Given the description of an element on the screen output the (x, y) to click on. 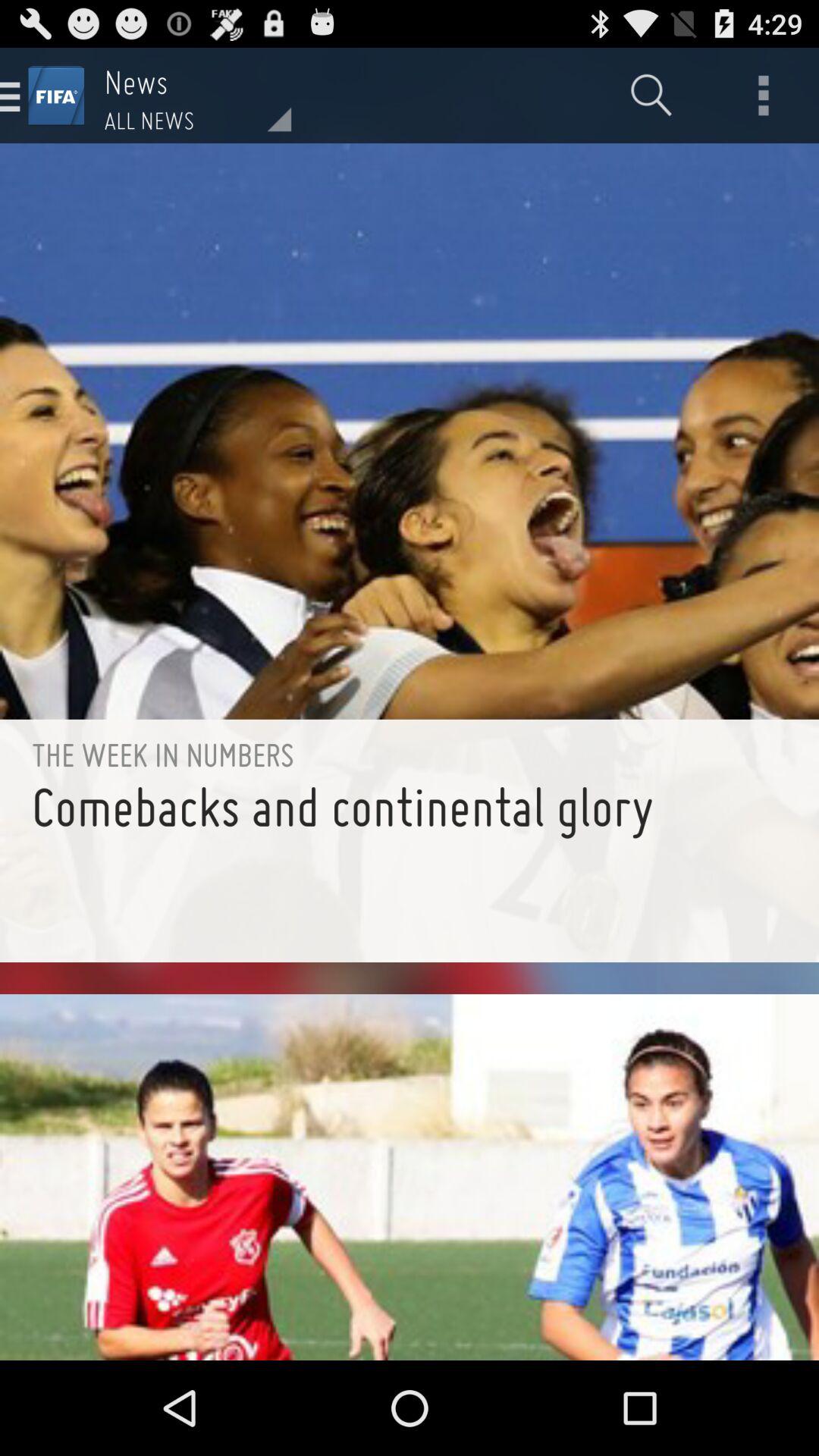
press item to the right of all news (651, 95)
